Given the description of an element on the screen output the (x, y) to click on. 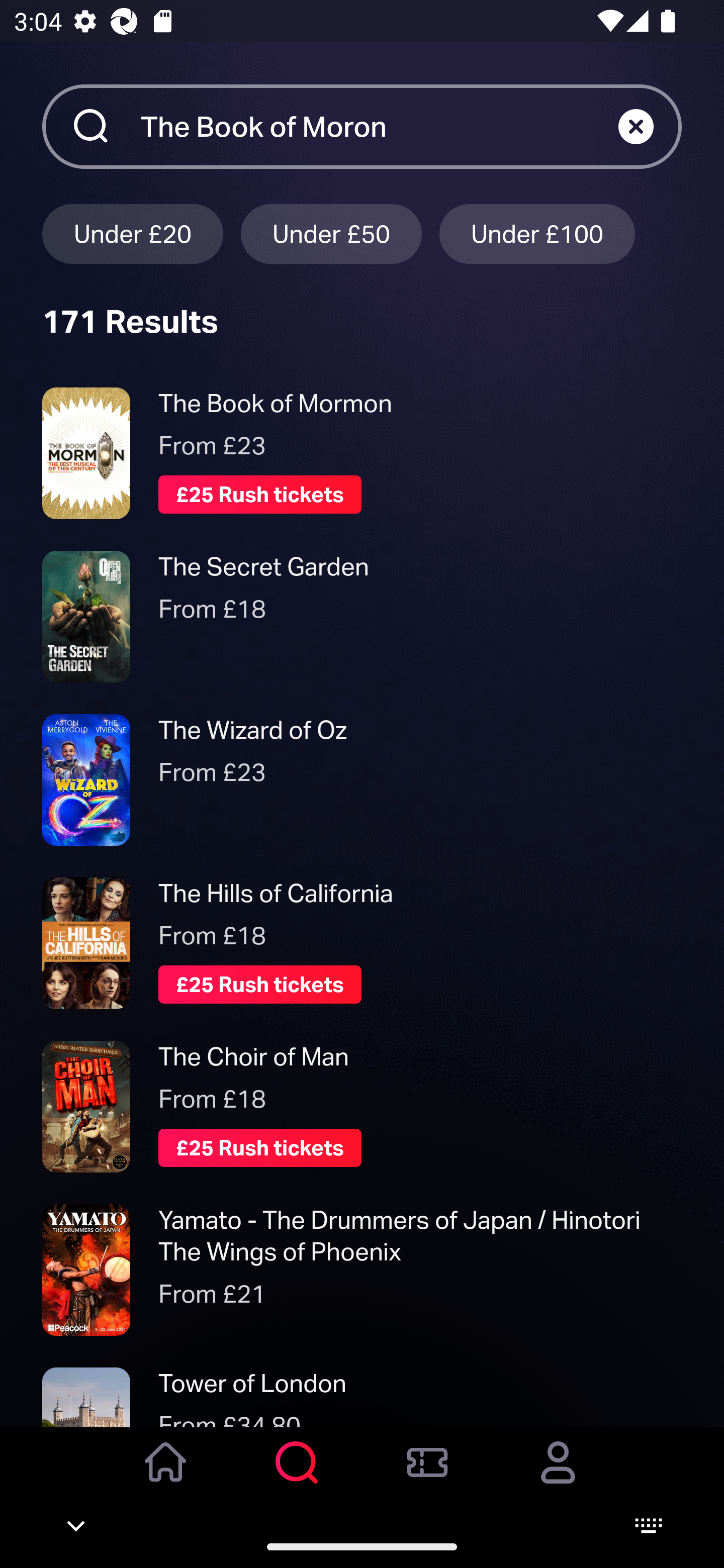
The Book of Moron (379, 126)
Under £20 (131, 233)
Under £50 (331, 233)
Under £100 (536, 233)
The Secret Garden £18  The Secret Garden From £18 (361, 616)
The Wizard of Oz £23  The Wizard of Oz From £23 (361, 779)
Home (165, 1475)
Orders (427, 1475)
Account (558, 1475)
